Given the description of an element on the screen output the (x, y) to click on. 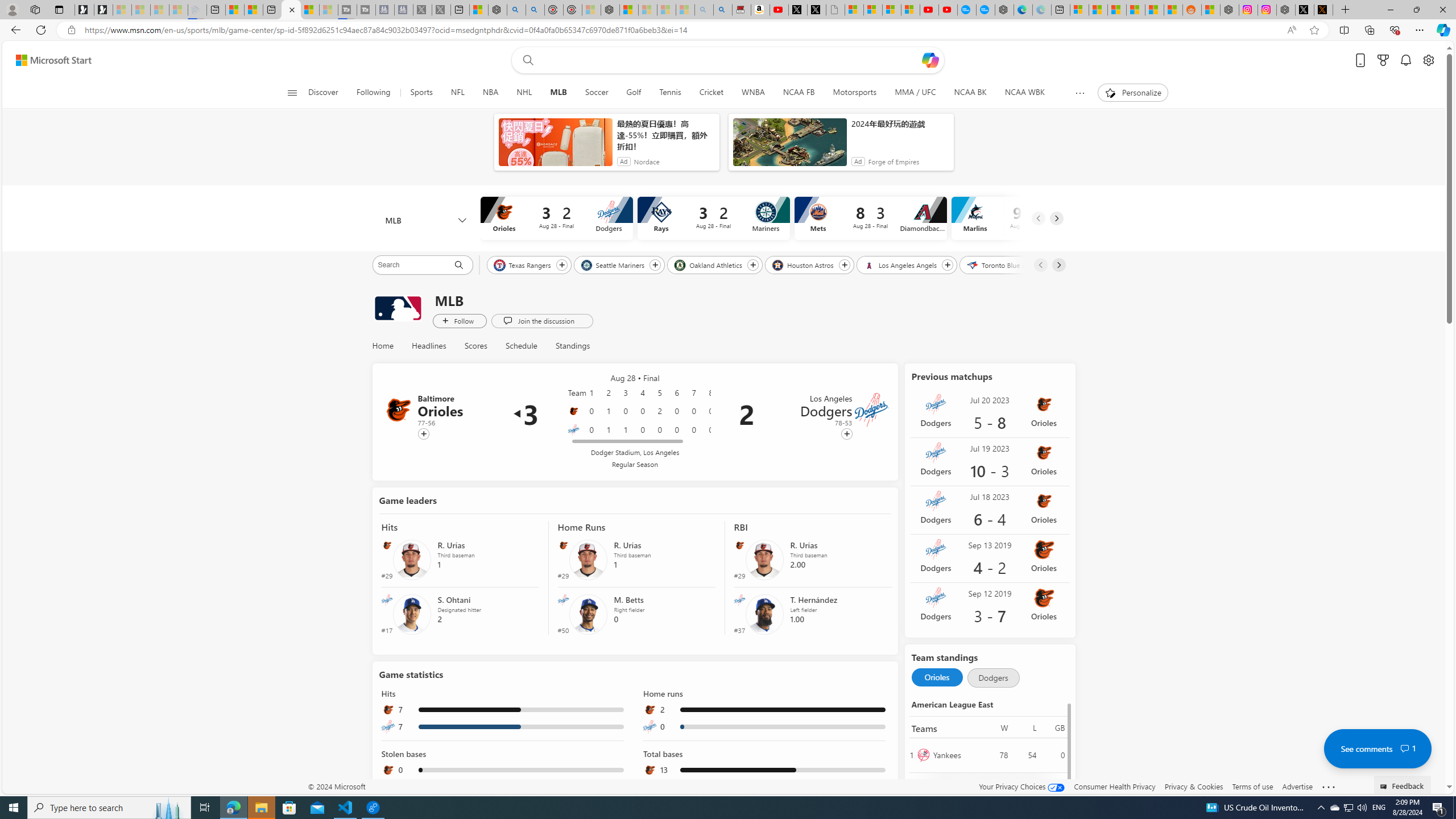
Consumer Health Privacy (1115, 786)
M. Betts (588, 613)
Dodgers (573, 429)
NBA (490, 92)
Your Privacy Choices (1021, 785)
poe ++ standard - Search (534, 9)
MMA / UFC (914, 92)
